Given the description of an element on the screen output the (x, y) to click on. 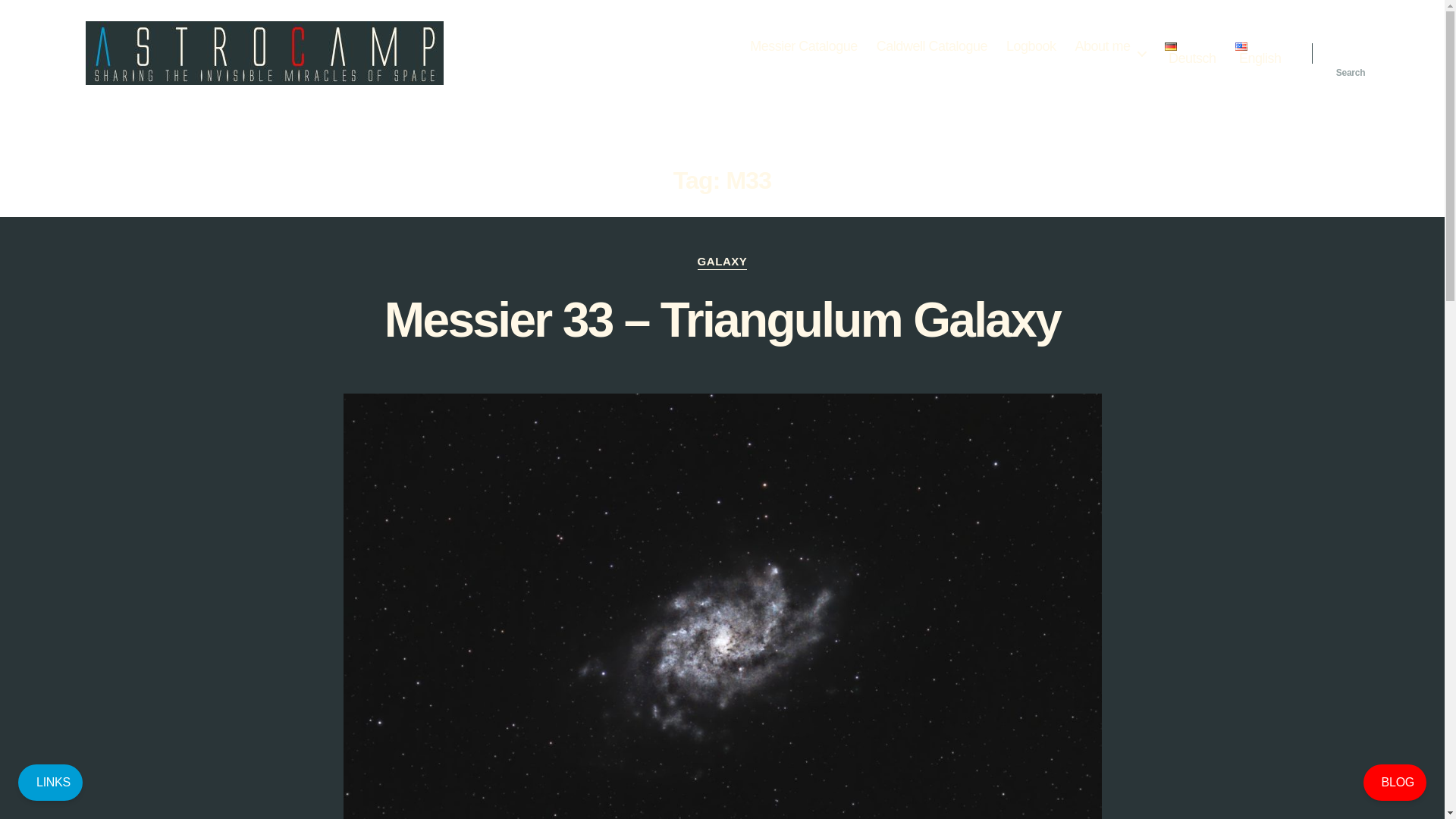
About me (1110, 46)
Deutsch (1189, 54)
Caldwell Catalogue (931, 46)
English (1257, 54)
Logbook (1031, 46)
Messier Catalogue (803, 46)
GALAXY (722, 262)
Search (1350, 52)
